Given the description of an element on the screen output the (x, y) to click on. 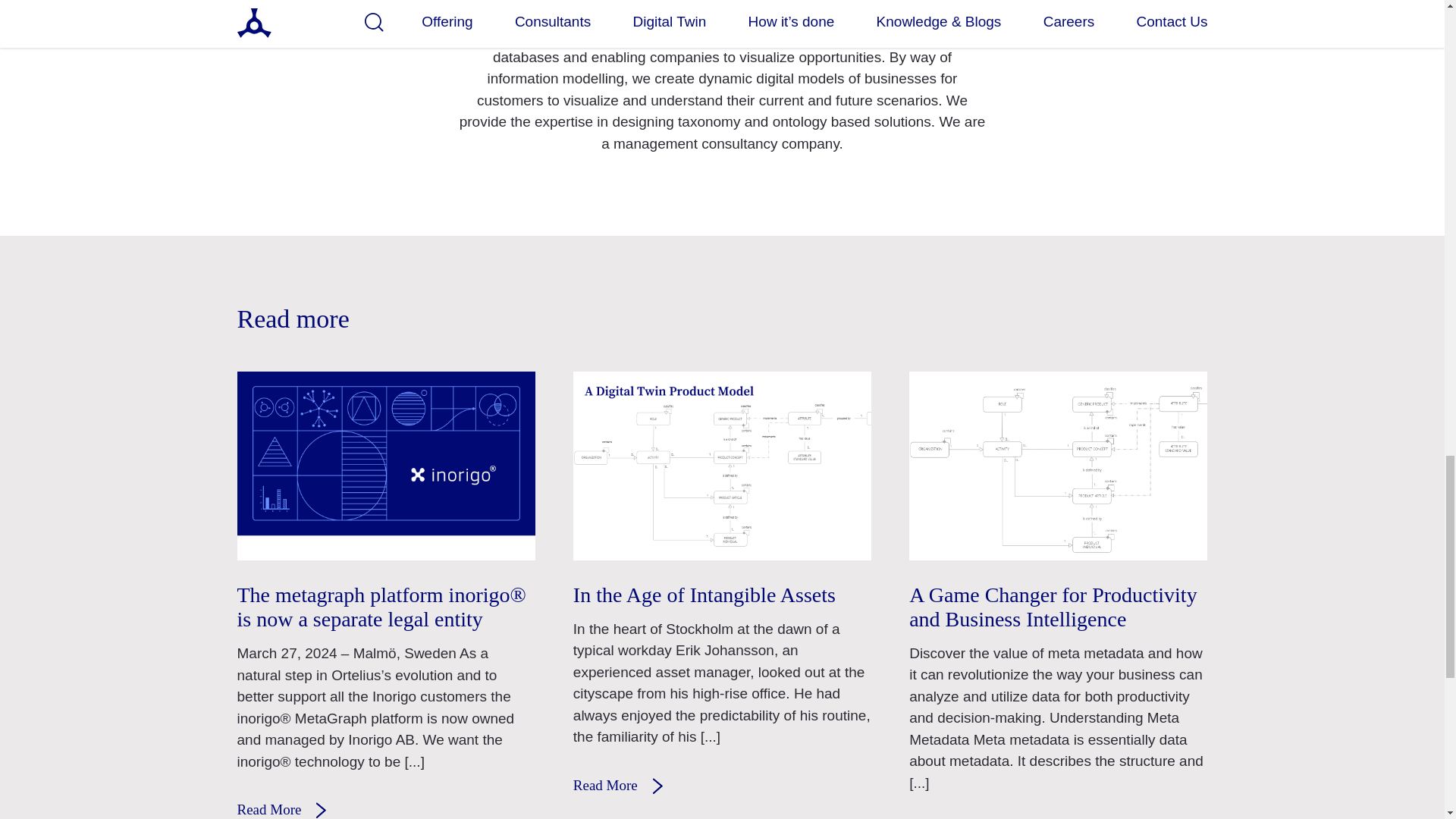
Read More (290, 810)
Read More (627, 787)
